Given the description of an element on the screen output the (x, y) to click on. 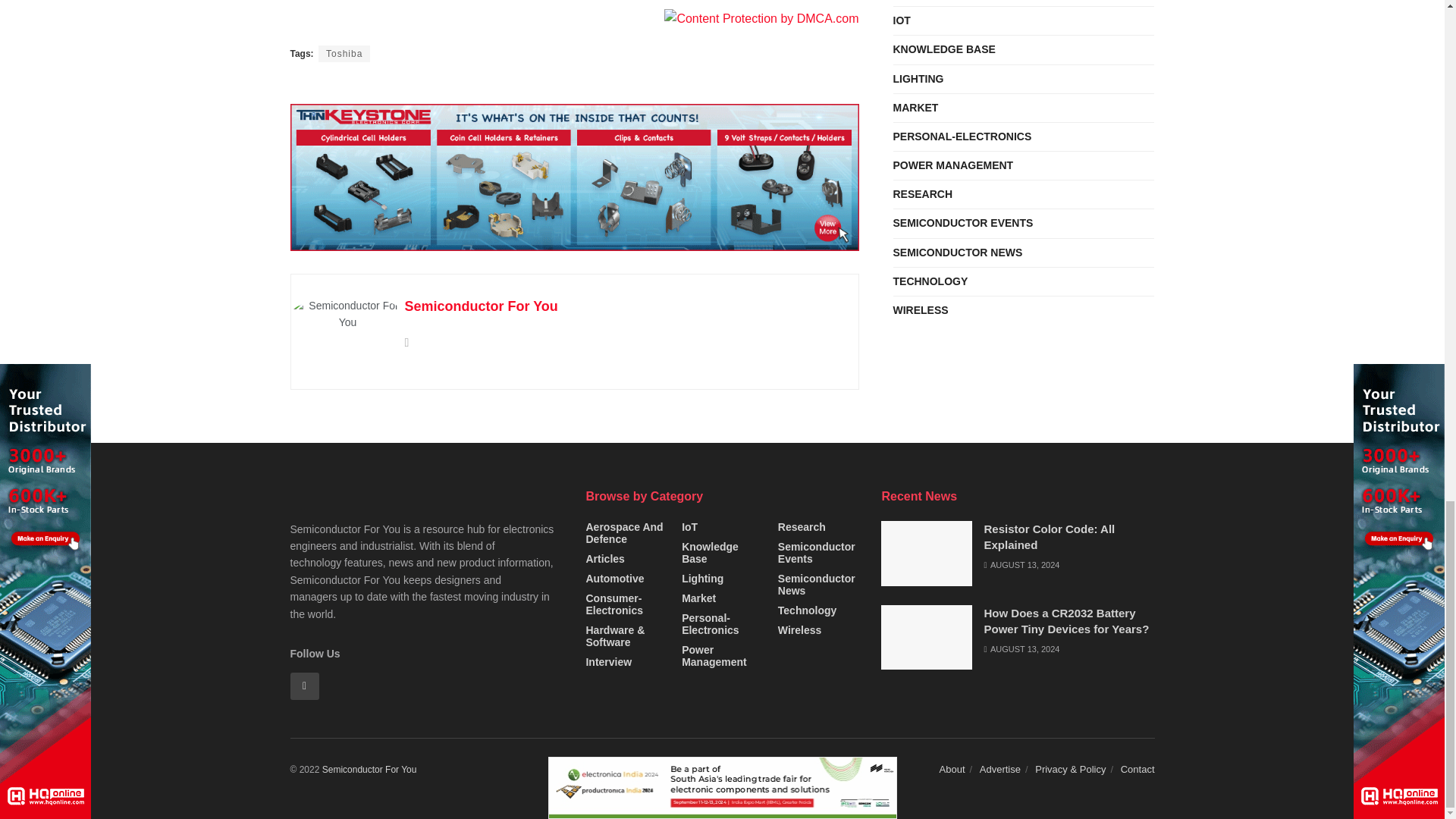
Content Protection by DMCA.com (761, 18)
